Given the description of an element on the screen output the (x, y) to click on. 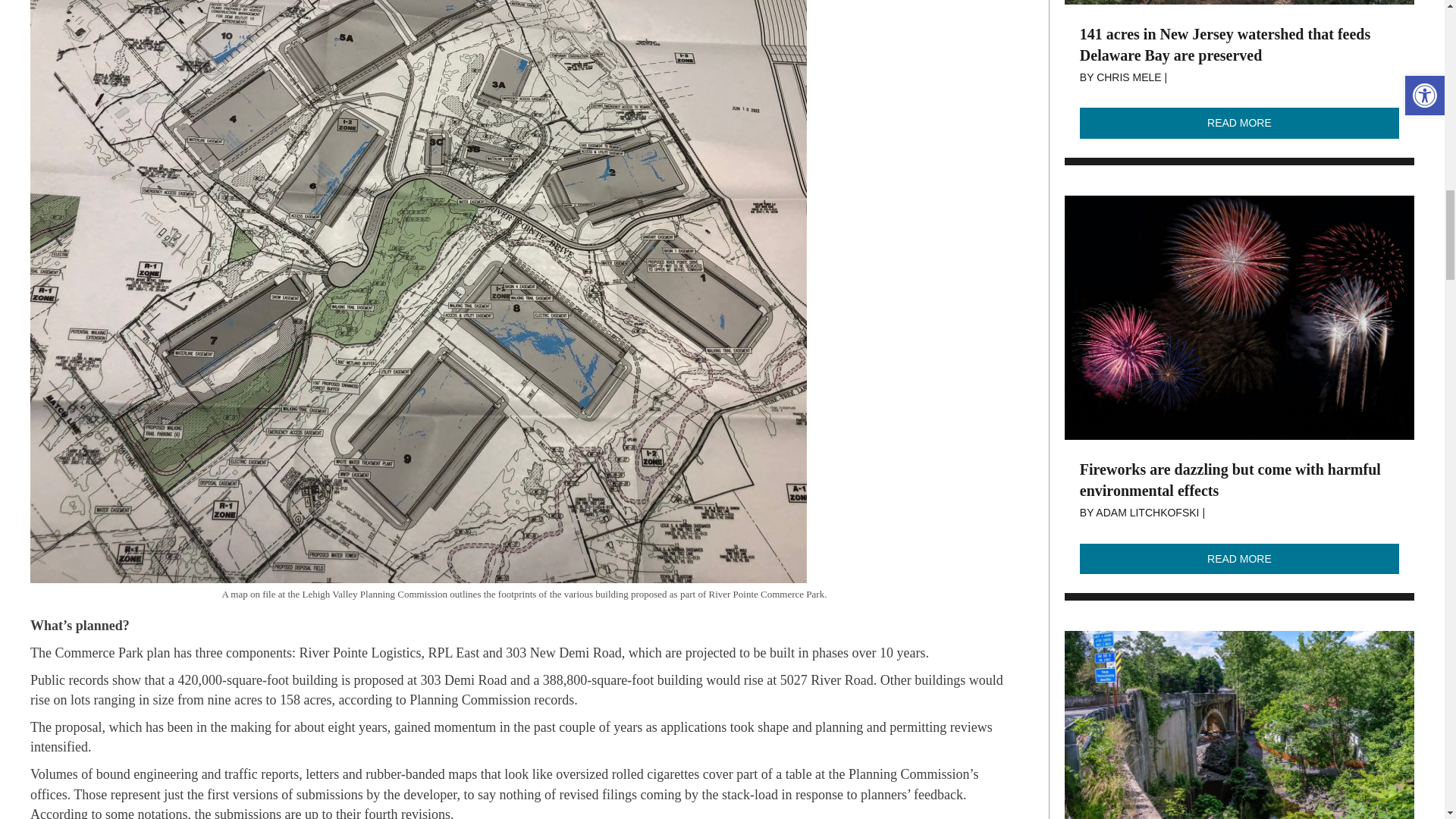
fireworks (1238, 317)
DSCF7814 (1238, 724)
